Given the description of an element on the screen output the (x, y) to click on. 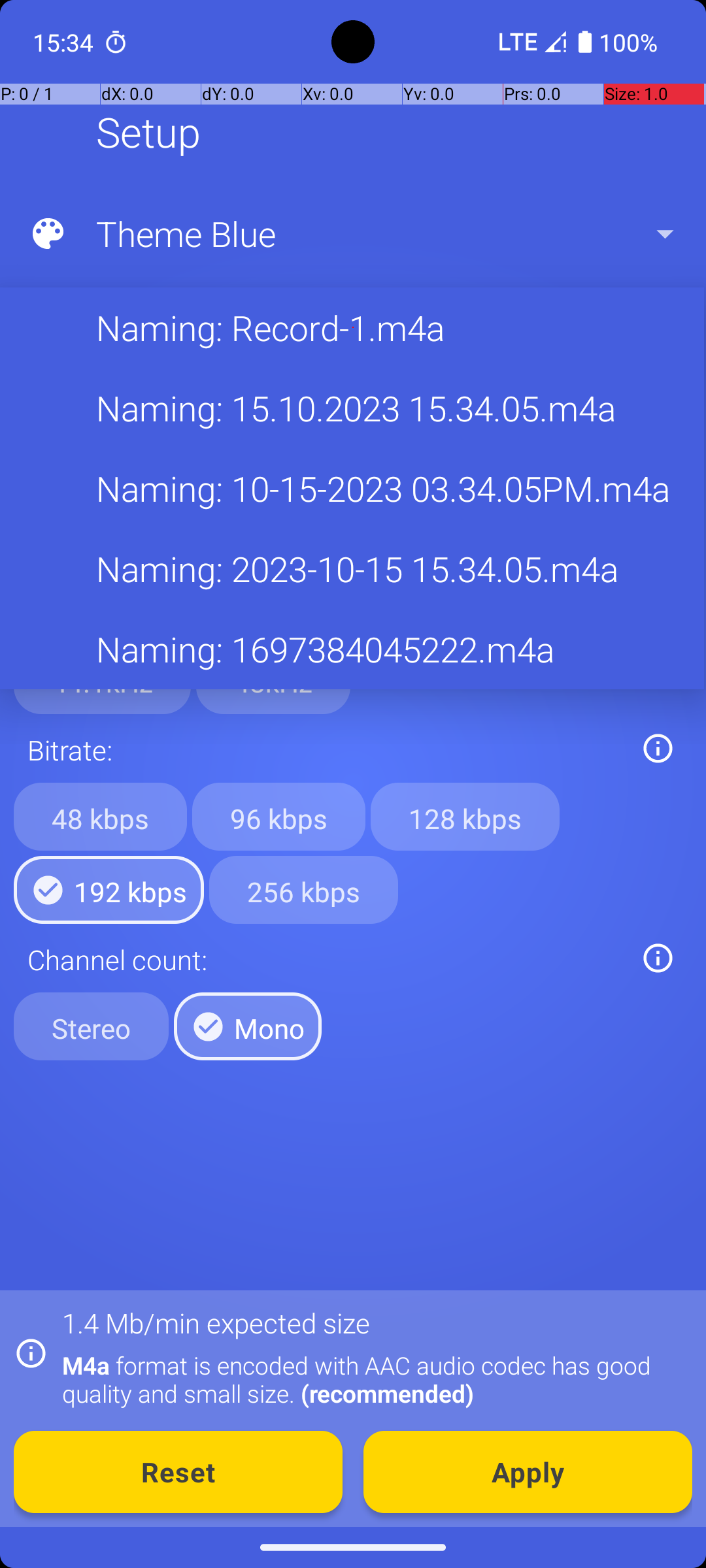
Naming: 15.10.2023 15.34.05.m4a Element type: android.widget.TextView (352, 407)
Naming: 10-15-2023 03.34.05PM.m4a Element type: android.widget.TextView (352, 488)
Naming: 2023-10-15 15.34.05.m4a Element type: android.widget.TextView (352, 568)
Naming: 1697384045222.m4a Element type: android.widget.TextView (352, 648)
